Given the description of an element on the screen output the (x, y) to click on. 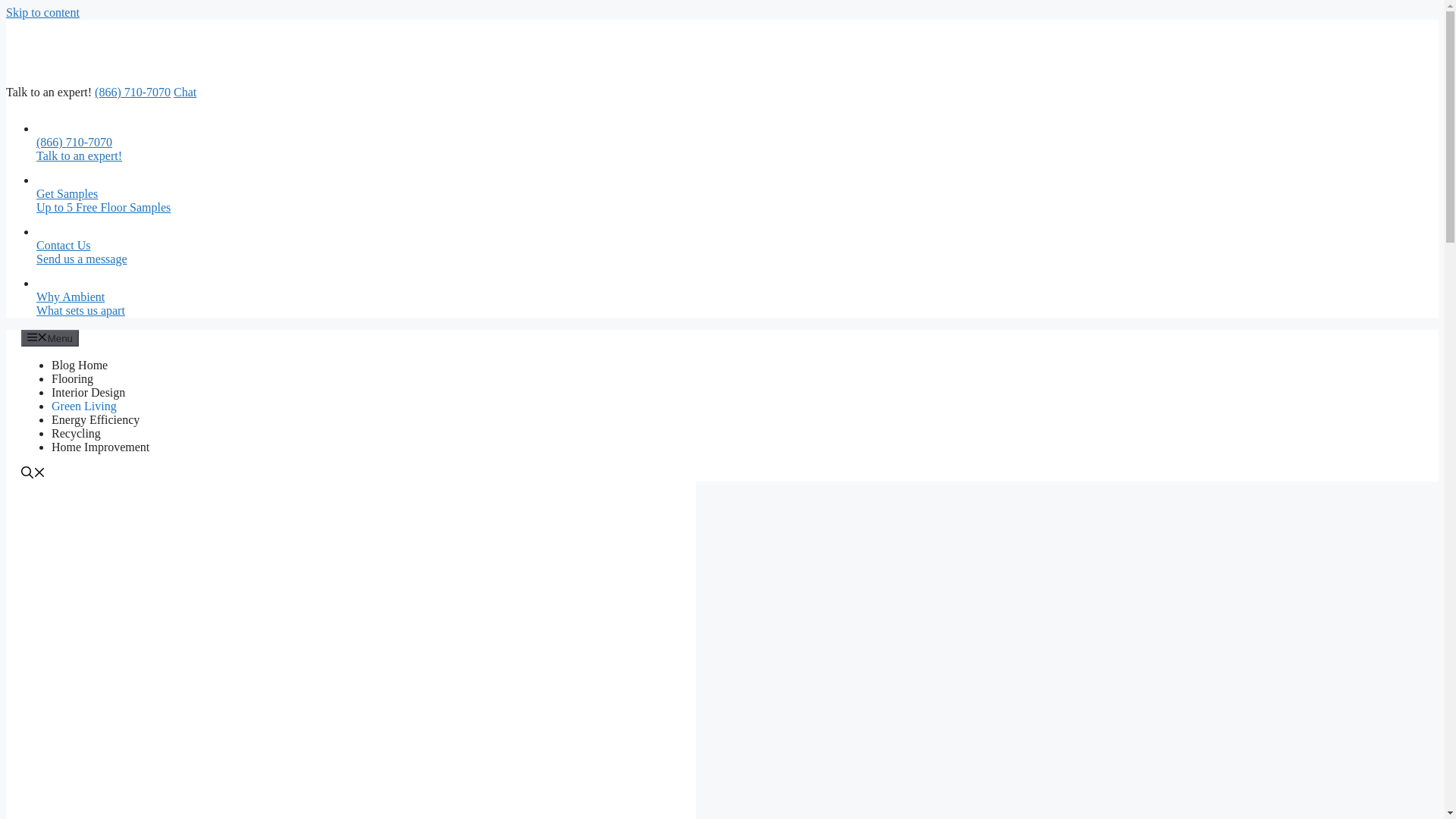
Green Living (83, 405)
Skip to content (42, 11)
Home Improvement (99, 446)
Energy Efficiency (94, 419)
The Greener Living Blog (118, 50)
Menu (49, 338)
Flooring (71, 378)
Recycling (513, 240)
Chat (75, 432)
The Greener Living Blog (513, 291)
Blog Home (184, 91)
Interior Design (118, 78)
